Given the description of an element on the screen output the (x, y) to click on. 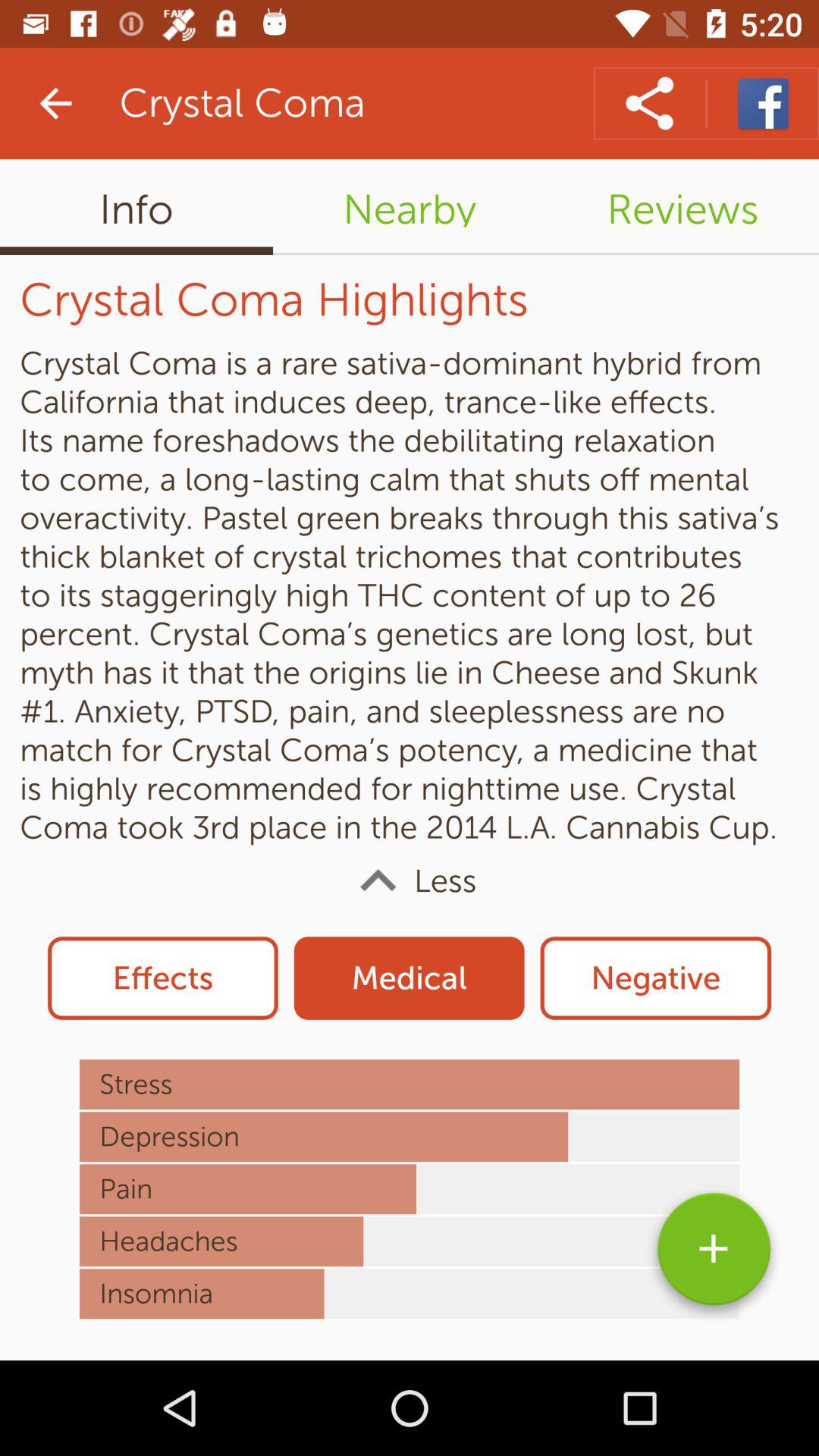
go to share (649, 103)
click on effects (162, 978)
click on reviews (682, 206)
click on headaches text option (409, 1240)
click on the less option (409, 881)
